Given the description of an element on the screen output the (x, y) to click on. 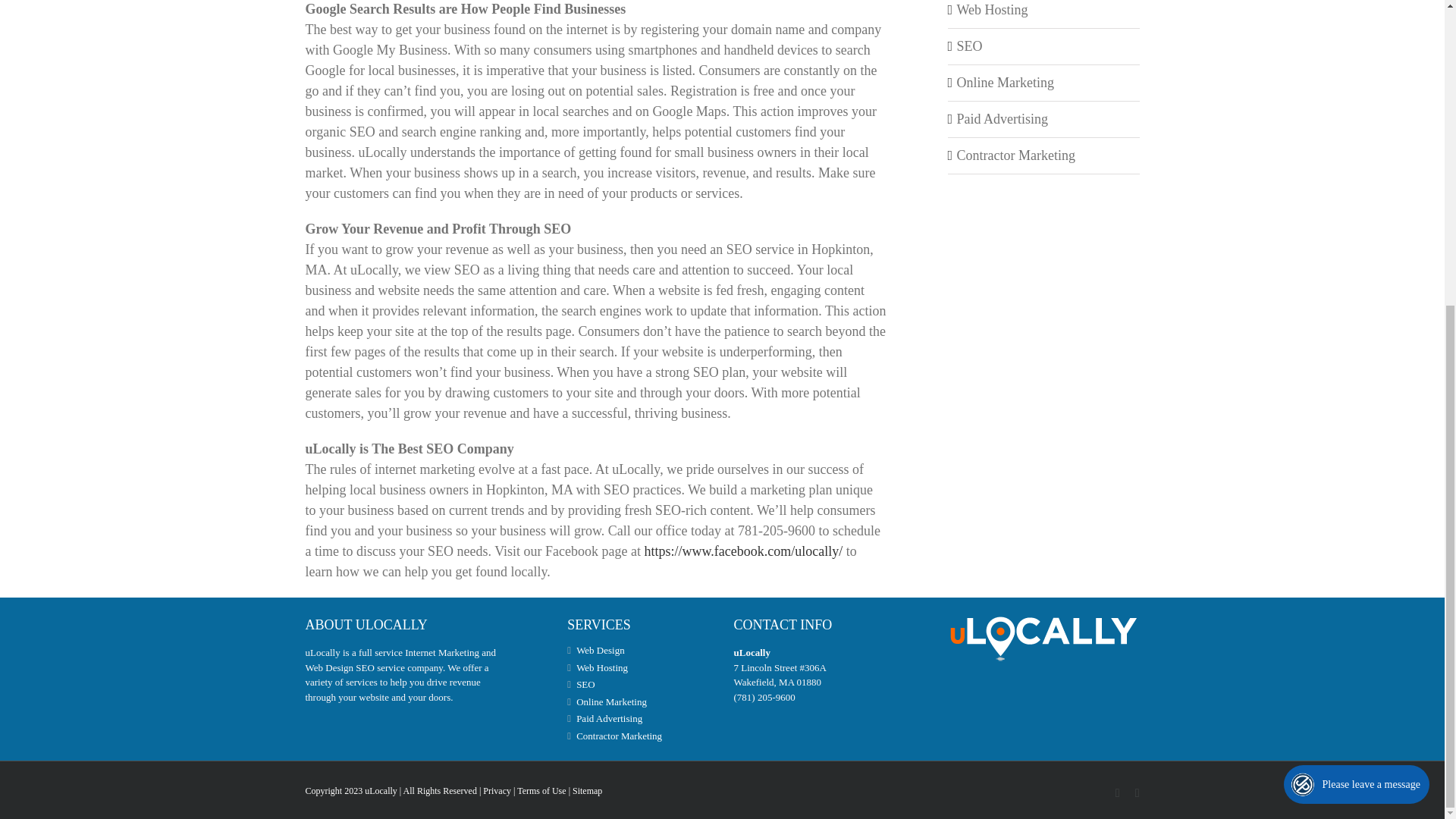
Paid Advertising (1002, 118)
Contractor Marketing (1015, 155)
Online Marketing (1005, 82)
Web Design (639, 650)
SEO (969, 46)
Web Hosting (991, 9)
Web Hosting (639, 667)
